Given the description of an element on the screen output the (x, y) to click on. 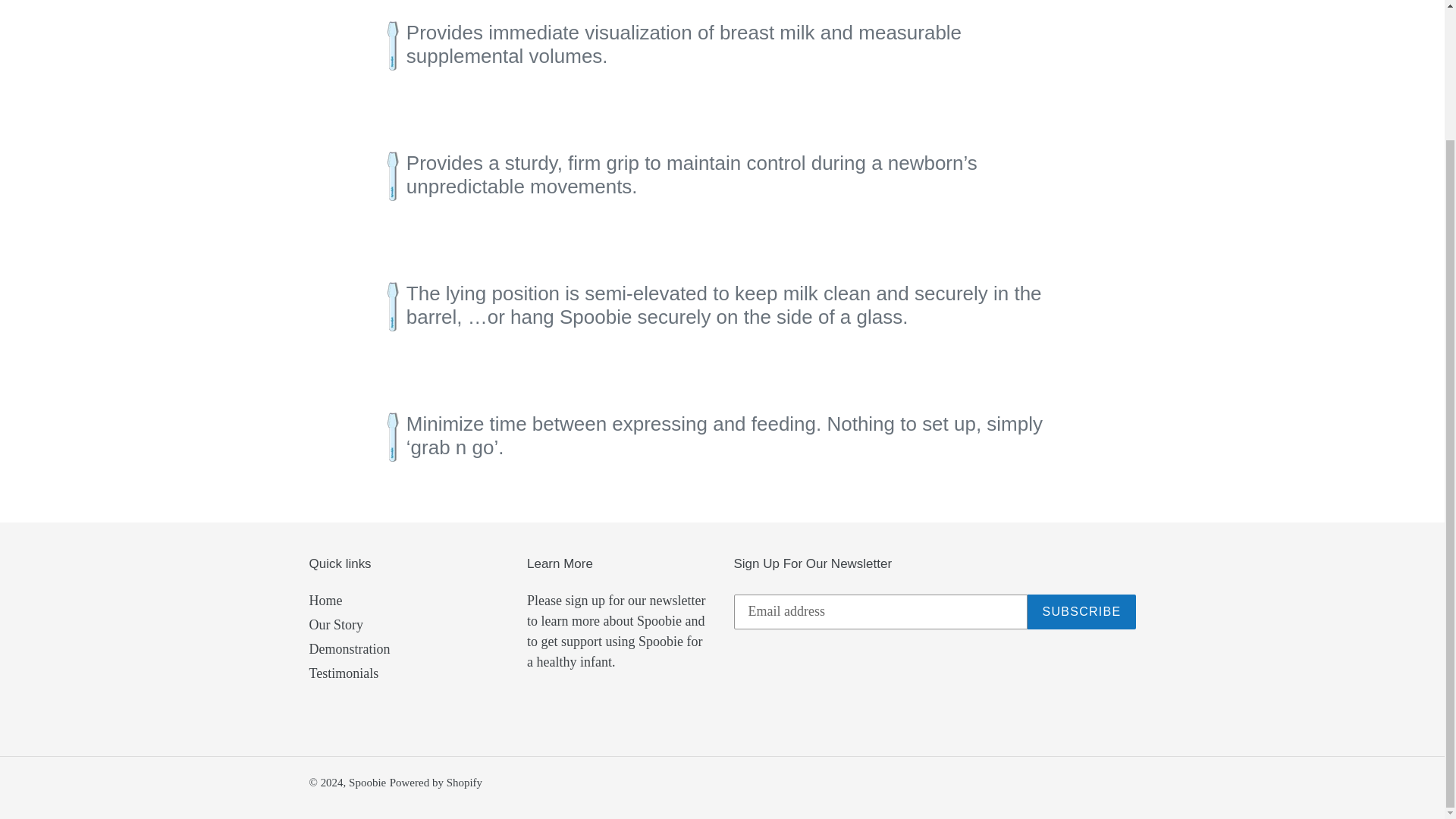
SUBSCRIBE (1081, 611)
Powered by Shopify (435, 782)
Demonstration (349, 648)
Home (325, 600)
Our Story (336, 624)
Spoobie (367, 782)
Testimonials (343, 672)
